Given the description of an element on the screen output the (x, y) to click on. 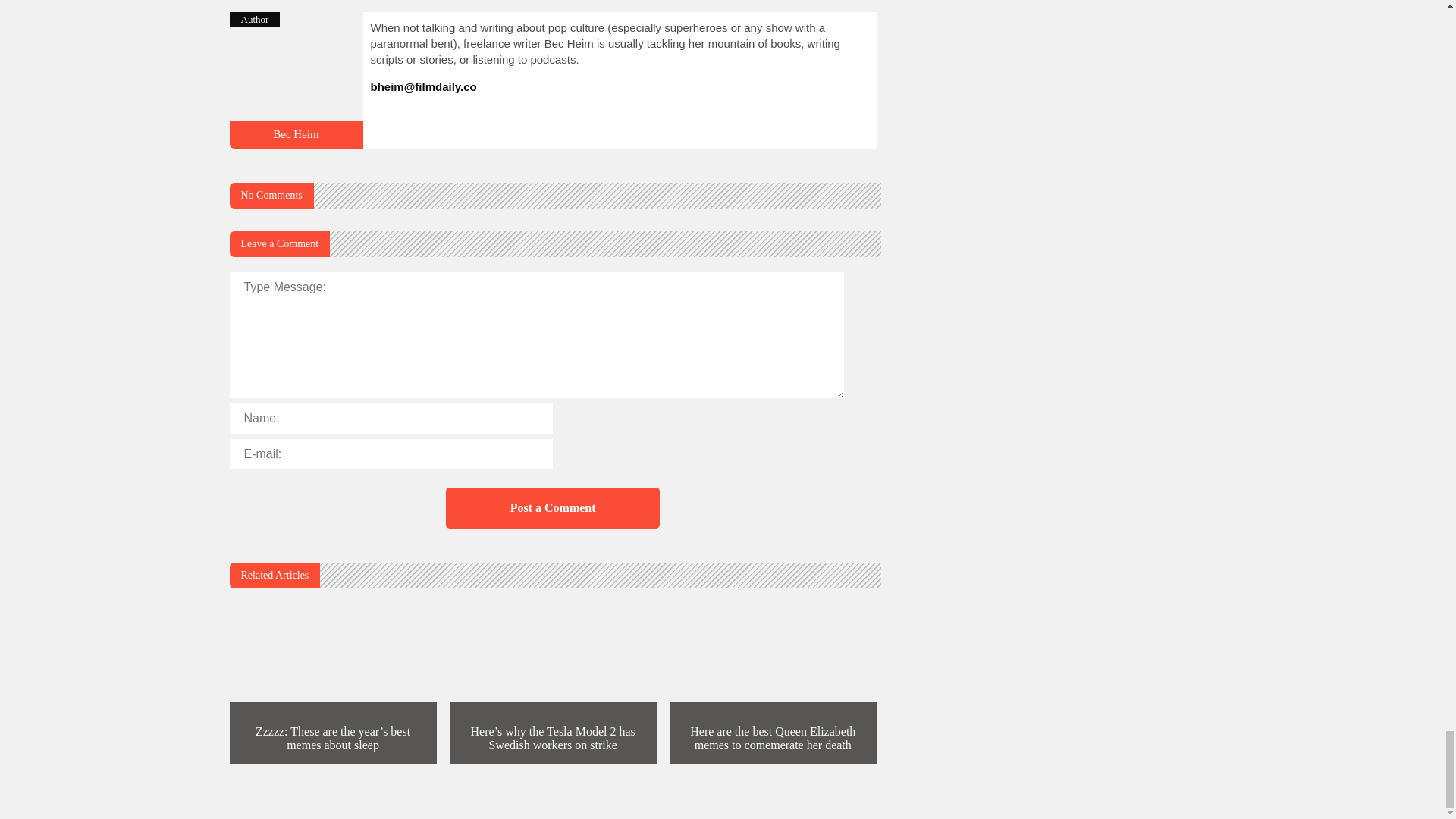
Post a Comment (552, 507)
OK boomer: All the best memes roasting baby boomers (295, 133)
OK boomer: All the best memes roasting baby boomers (295, 141)
